Given the description of an element on the screen output the (x, y) to click on. 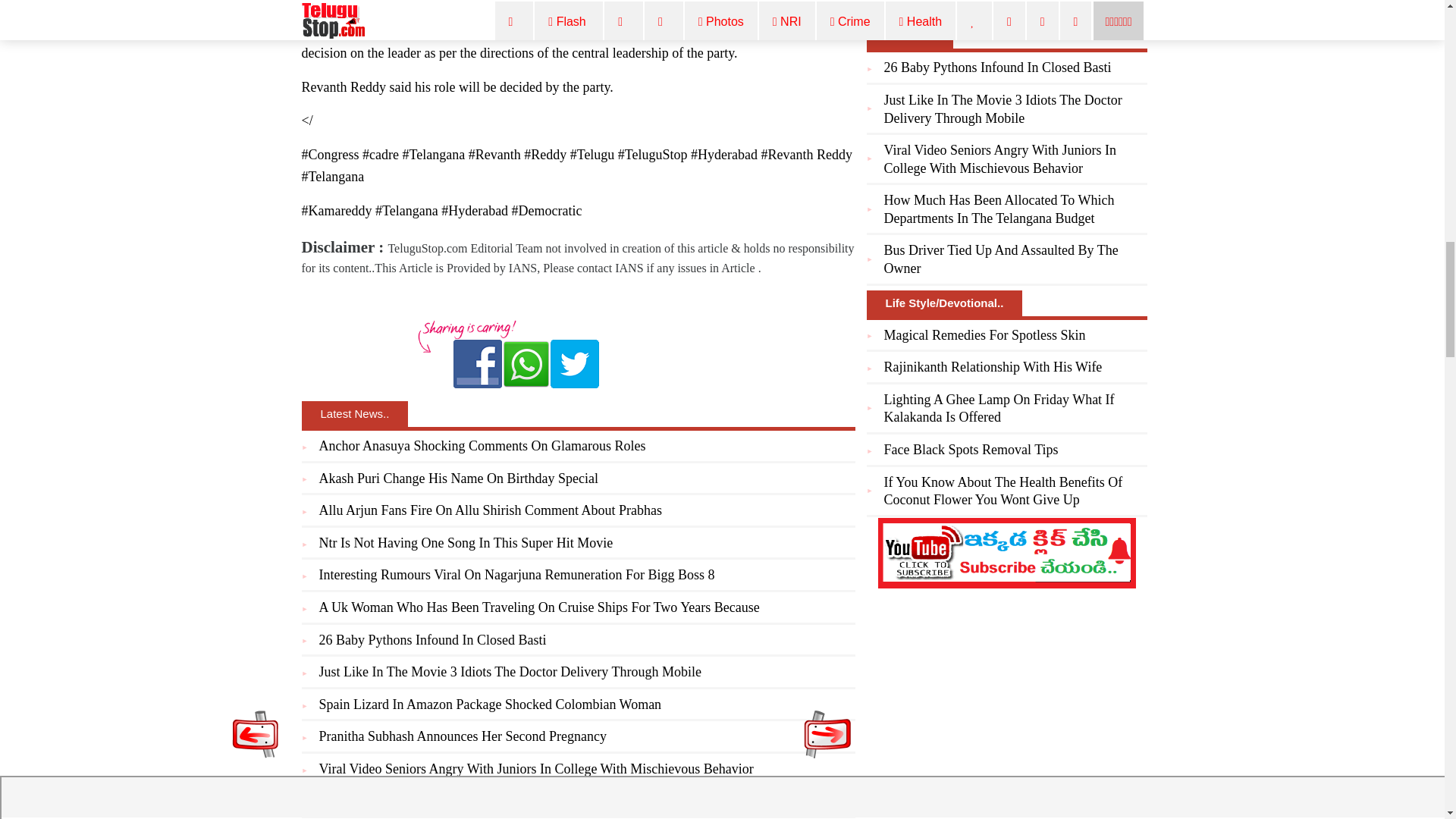
Follow Us on WhatsApp (526, 363)
Follow Us on Twitter (574, 363)
Anchor Anasuya Shocking Comments On Glamarous Roles (481, 445)
Spain Lizard In Amazon Package Shocked Colombian Woman (489, 703)
Akash Puri Change His Name On Birthday Special (457, 478)
Ntr Is Not Having One Song In This Super Hit Movie (465, 542)
26 Baby Pythons Infound In Closed Basti (432, 639)
Allu Arjun Fans Fire On Allu Shirish Comment About Prabhas (490, 509)
Follow Us on Facebook (477, 363)
Pranitha Subhash Announces Her Second Pregnancy (461, 735)
